Given the description of an element on the screen output the (x, y) to click on. 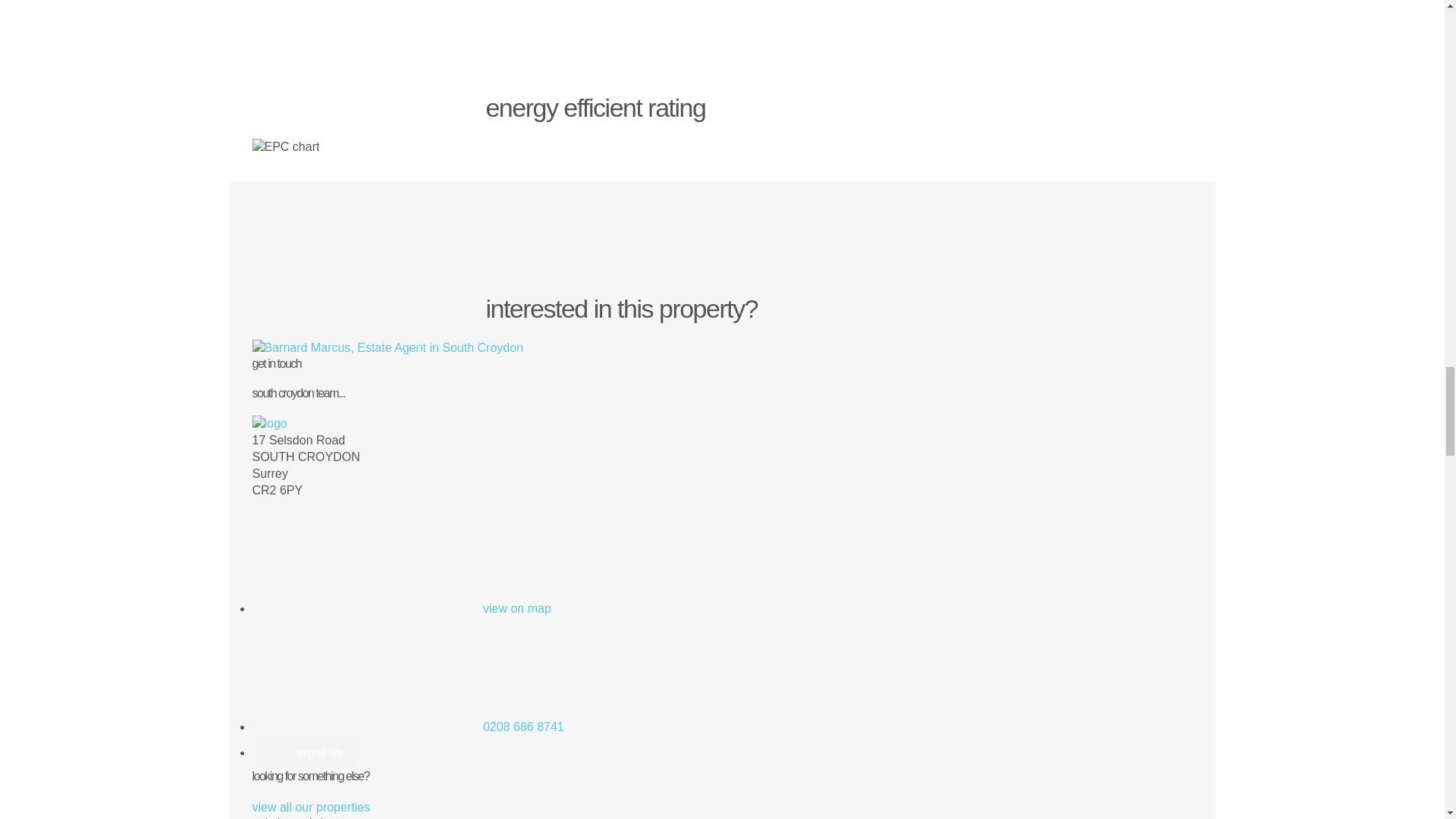
Barnard Marcus South Croydon telephone (523, 726)
Barnard Marcus South Croydon email (307, 752)
Barnard Marcus South Croydon properties (310, 807)
Barnard Marcus, Estate Agent in South Croydon (386, 347)
Barnard Marcus South Croydon map (517, 608)
Barnard Marcus South Croydon (268, 422)
